Given the description of an element on the screen output the (x, y) to click on. 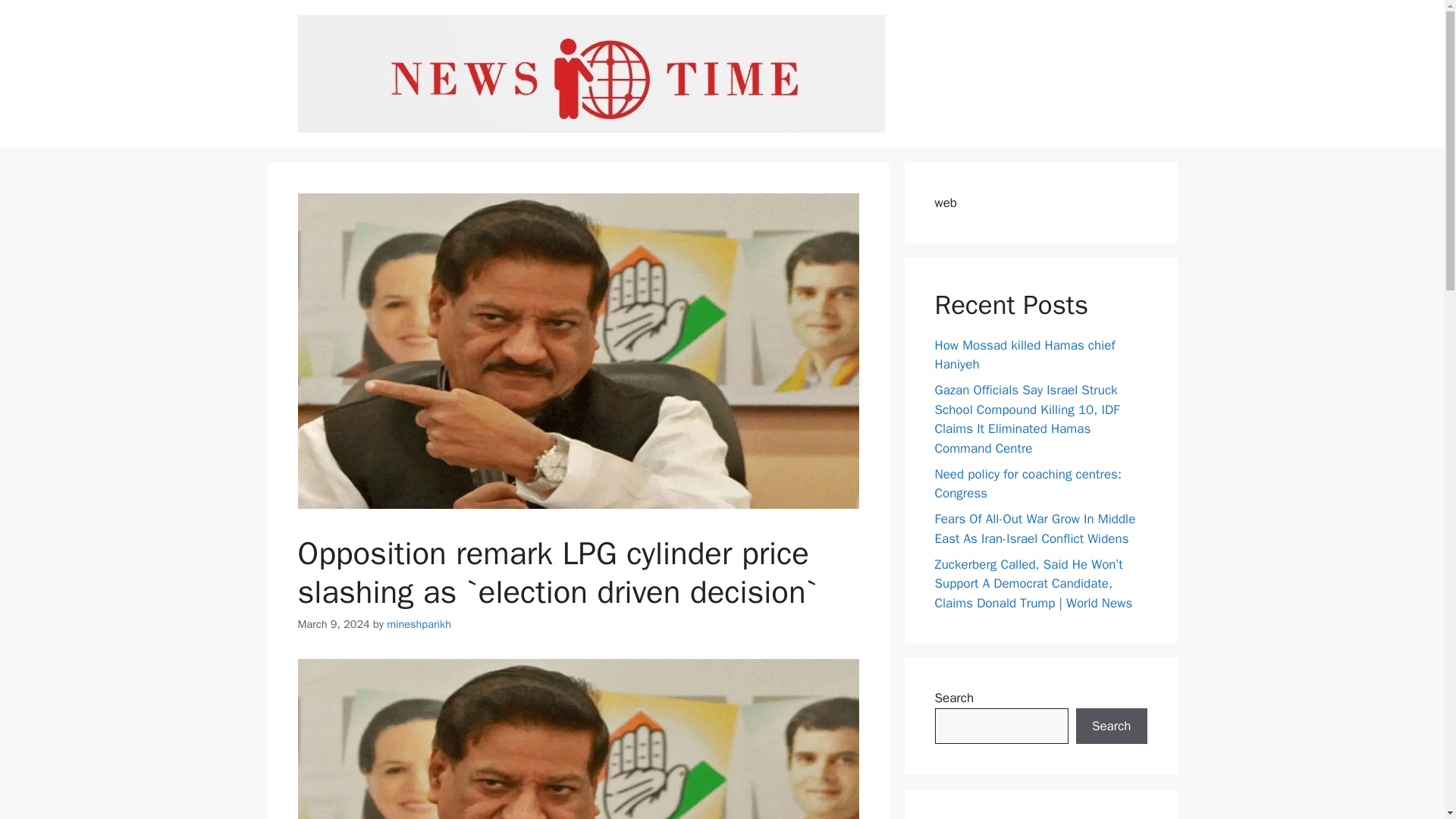
Search (1111, 726)
How Mossad killed Hamas chief Haniyeh (1024, 354)
View all posts by mineshparikh (419, 623)
mineshparikh (419, 623)
Need policy for coaching centres: Congress (1027, 483)
